Given the description of an element on the screen output the (x, y) to click on. 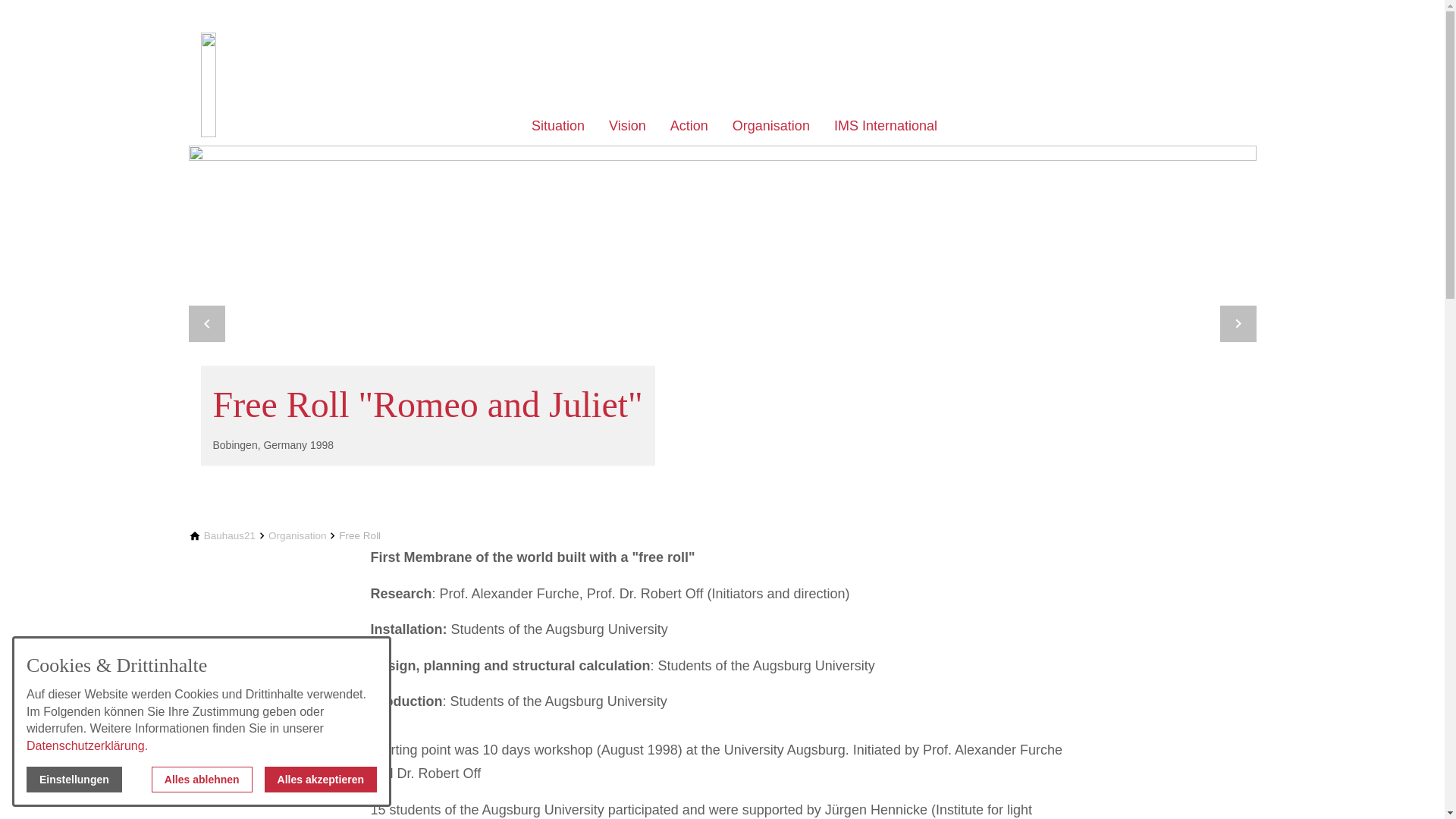
Alles ablehnen (201, 779)
IMS International (885, 127)
Action (688, 127)
Situation (558, 127)
Alles akzeptieren (320, 779)
Organisation (770, 127)
Organisation (296, 535)
Vision (627, 127)
Bauhaus21 (229, 535)
